Given the description of an element on the screen output the (x, y) to click on. 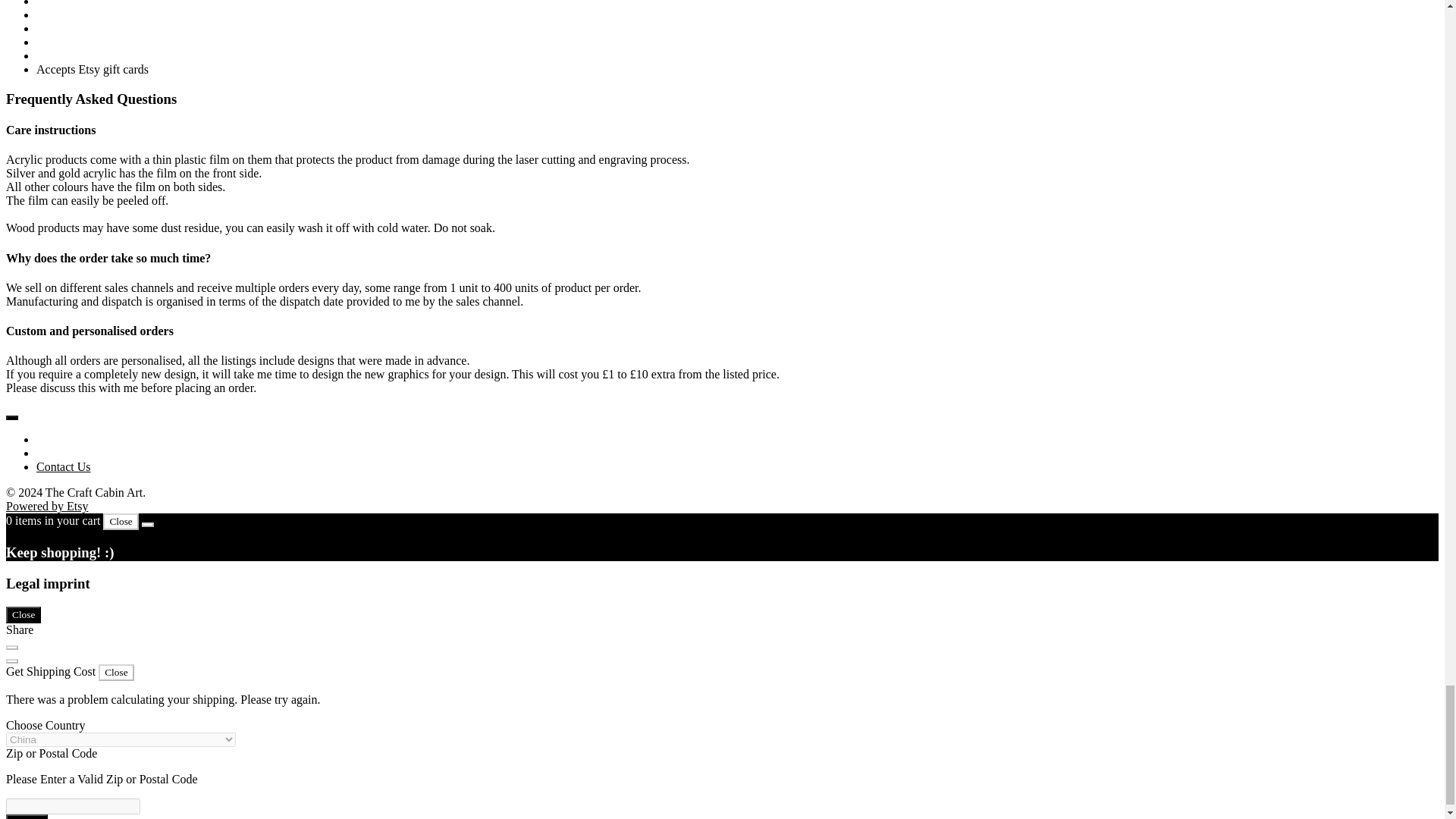
Close (116, 672)
Close (22, 614)
Close (120, 521)
Contact Us (63, 466)
Powered by Etsy (46, 505)
